Given the description of an element on the screen output the (x, y) to click on. 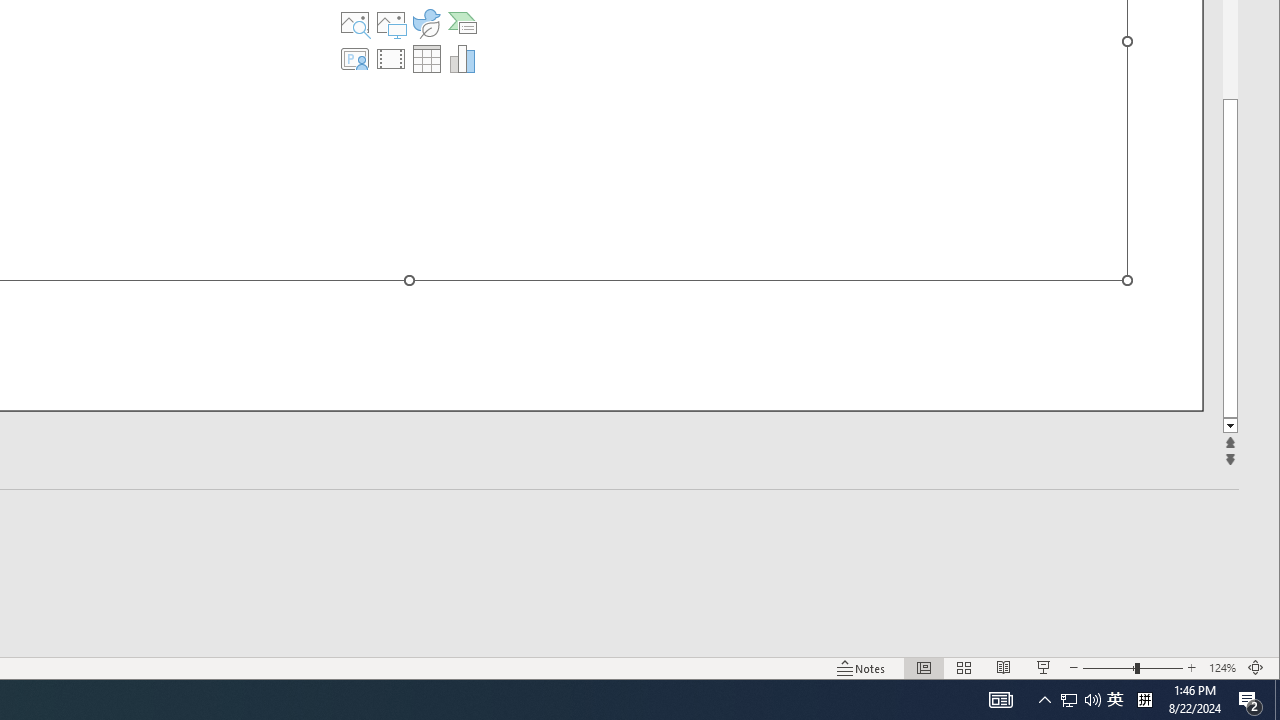
Insert Video (391, 58)
Stock Images (355, 22)
Insert Cameo (355, 58)
User Promoted Notification Area (1080, 699)
Insert Table (426, 58)
Normal (923, 668)
Insert a SmartArt Graphic (462, 22)
Reading View (1004, 668)
Notes  (861, 668)
Pictures (391, 22)
Tray Input Indicator - Chinese (Simplified, China) (1144, 699)
Slide Sorter (964, 668)
Zoom (1132, 668)
